Given the description of an element on the screen output the (x, y) to click on. 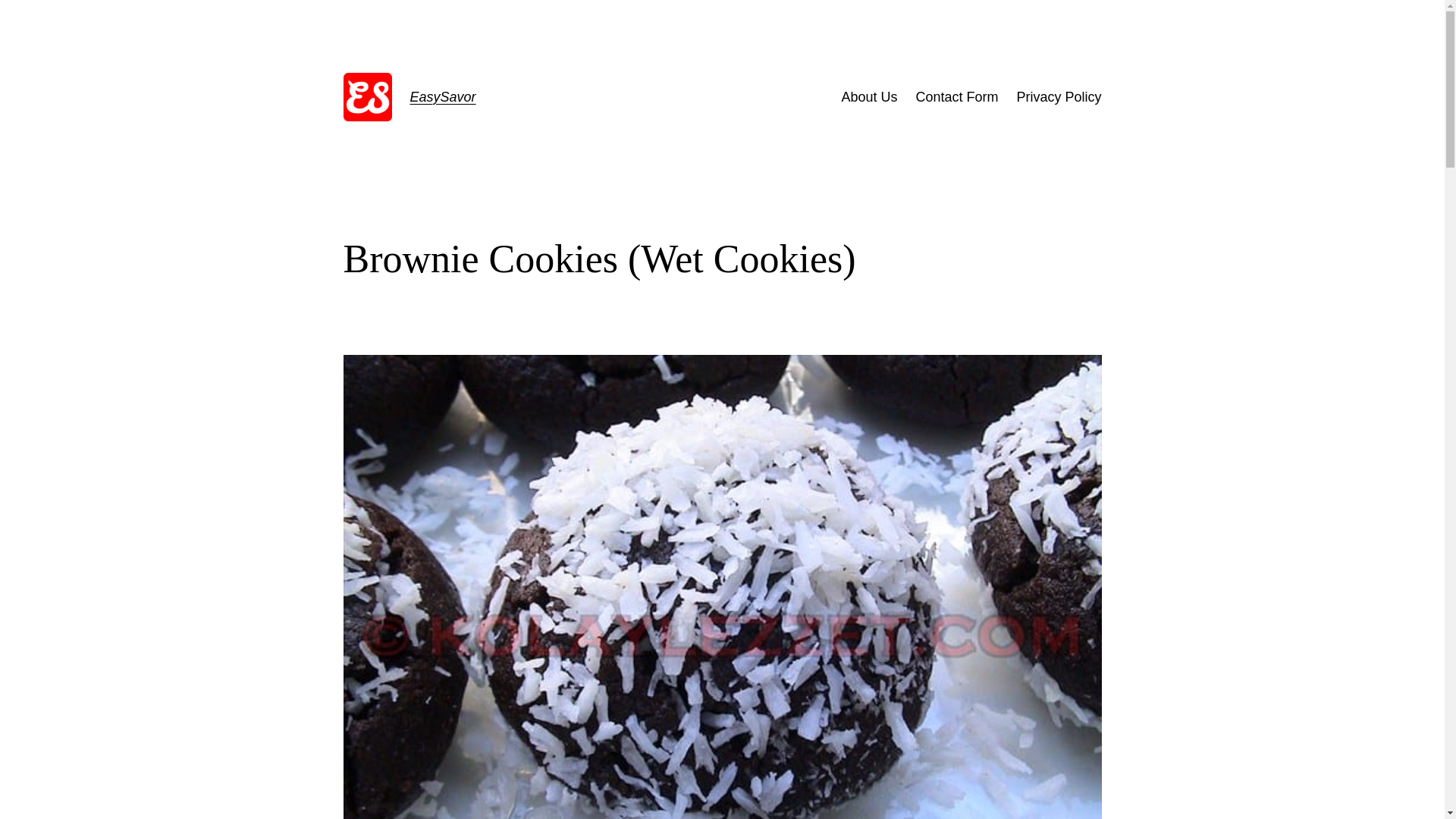
About Us (868, 97)
EasySavor (442, 96)
Contact Form (956, 97)
Privacy Policy (1058, 97)
